Given the description of an element on the screen output the (x, y) to click on. 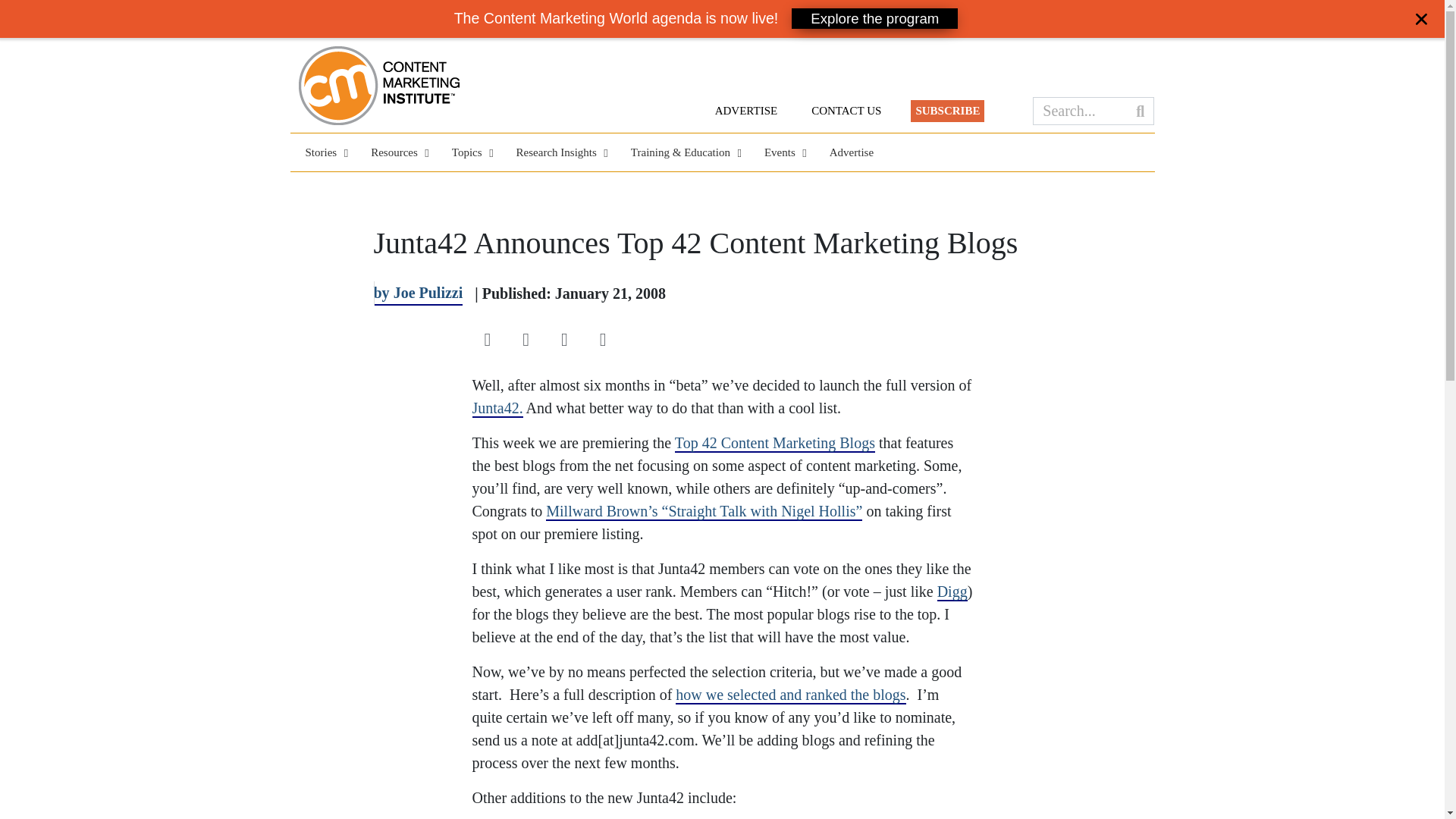
CONTACT US (845, 110)
Resources (395, 152)
Stories (322, 152)
ADVERTISE (745, 110)
SUBSCRIBE (947, 110)
Topics (468, 152)
